Given the description of an element on the screen output the (x, y) to click on. 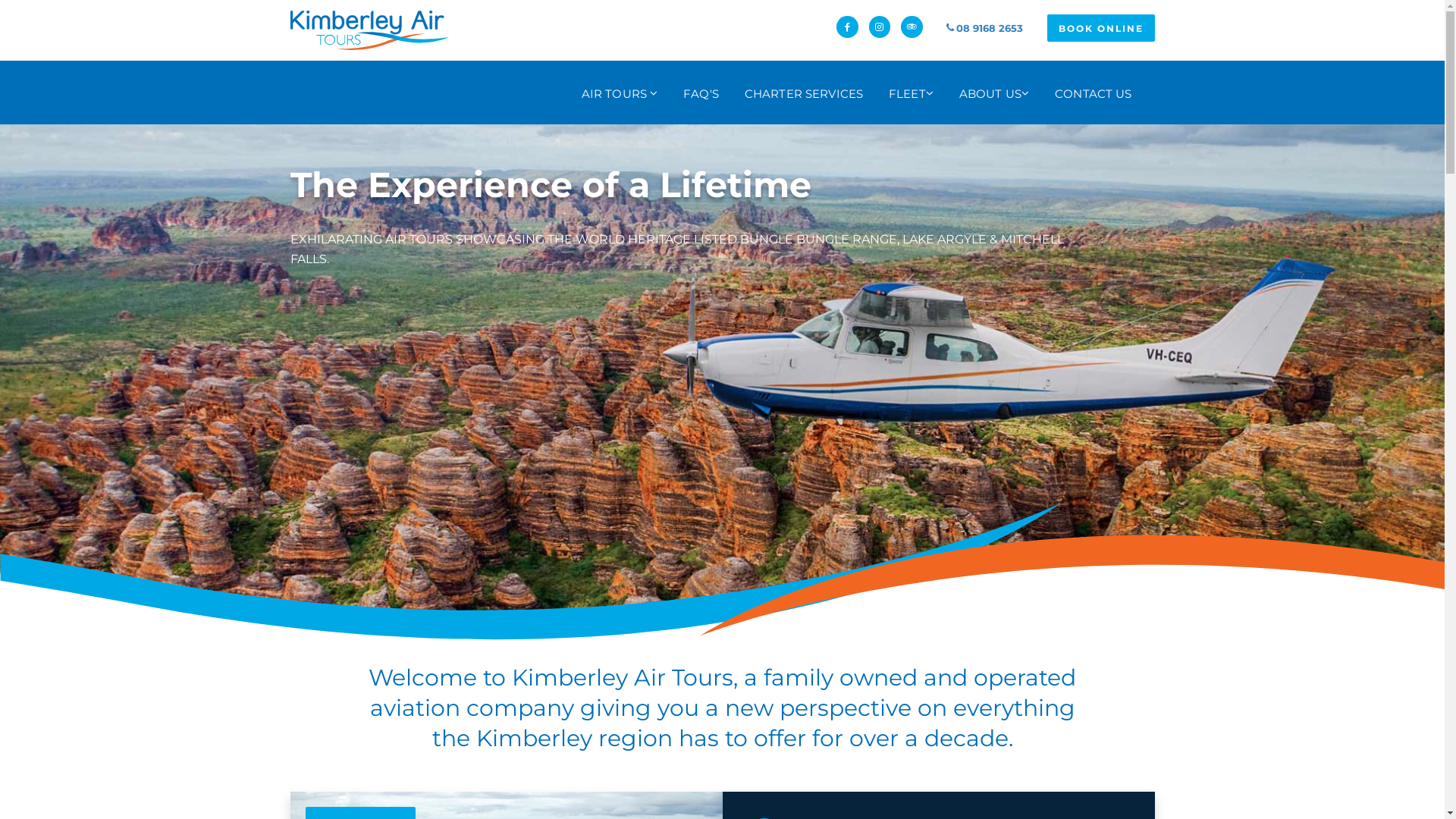
CHARTER SERVICES Element type: text (803, 92)
08 9168 2653 Element type: text (984, 27)
CONTACT US Element type: text (1092, 92)
Welcome to Kimberley Air Tours Element type: hover (368, 30)
ABOUT US Element type: text (993, 92)
FLEET Element type: text (910, 92)
BOOK ONLINE Element type: text (1100, 27)
FAQ'S Element type: text (700, 92)
AIR TOURS Element type: text (619, 92)
